Given the description of an element on the screen output the (x, y) to click on. 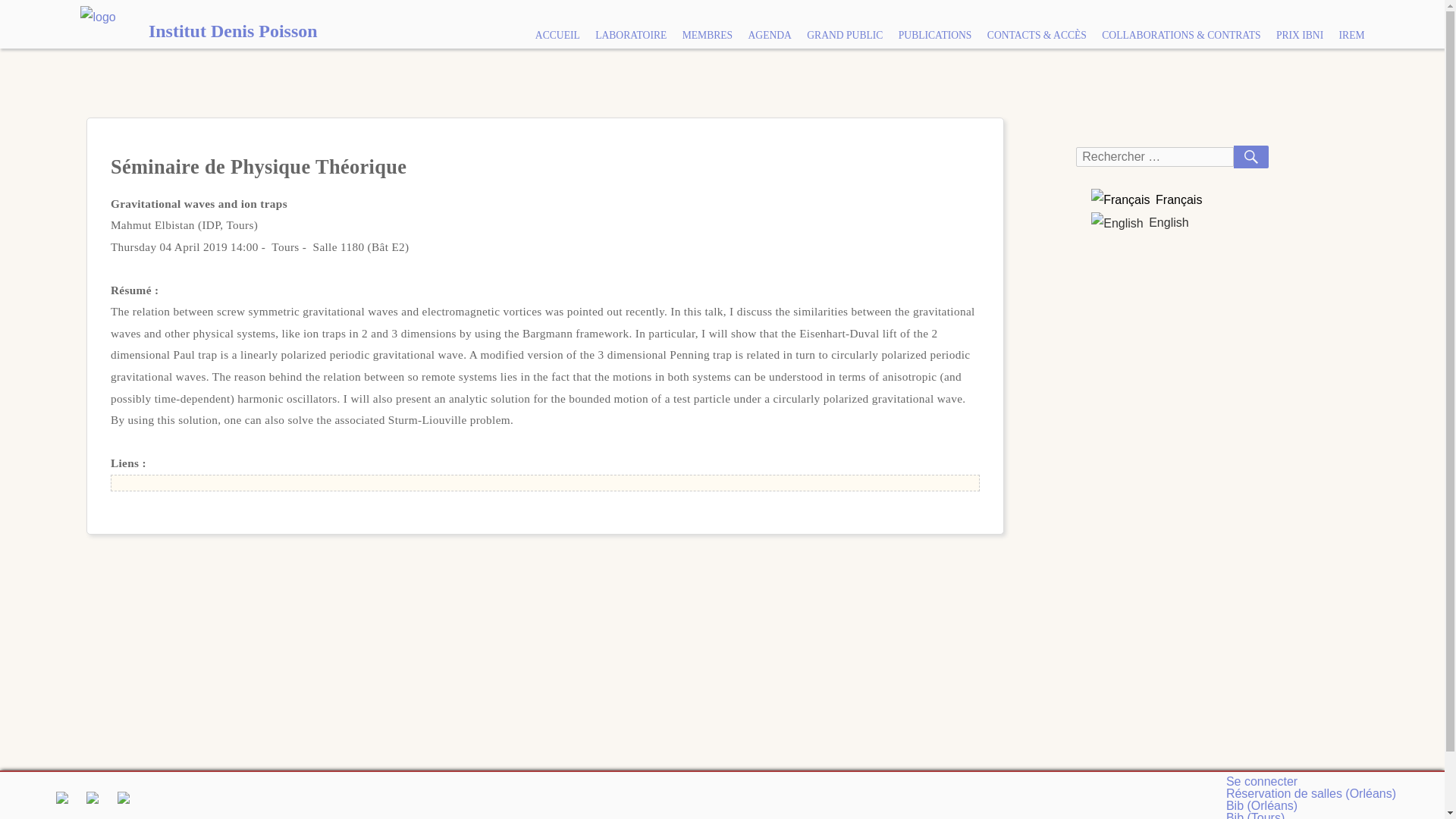
RECHERCHER (1250, 156)
LABORATOIRE (631, 35)
ACCUEIL (557, 35)
IREM (1350, 35)
AGENDA (769, 35)
English (1139, 222)
GRAND PUBLIC (844, 35)
PUBLICATIONS (935, 35)
MEMBRES (706, 35)
